Given the description of an element on the screen output the (x, y) to click on. 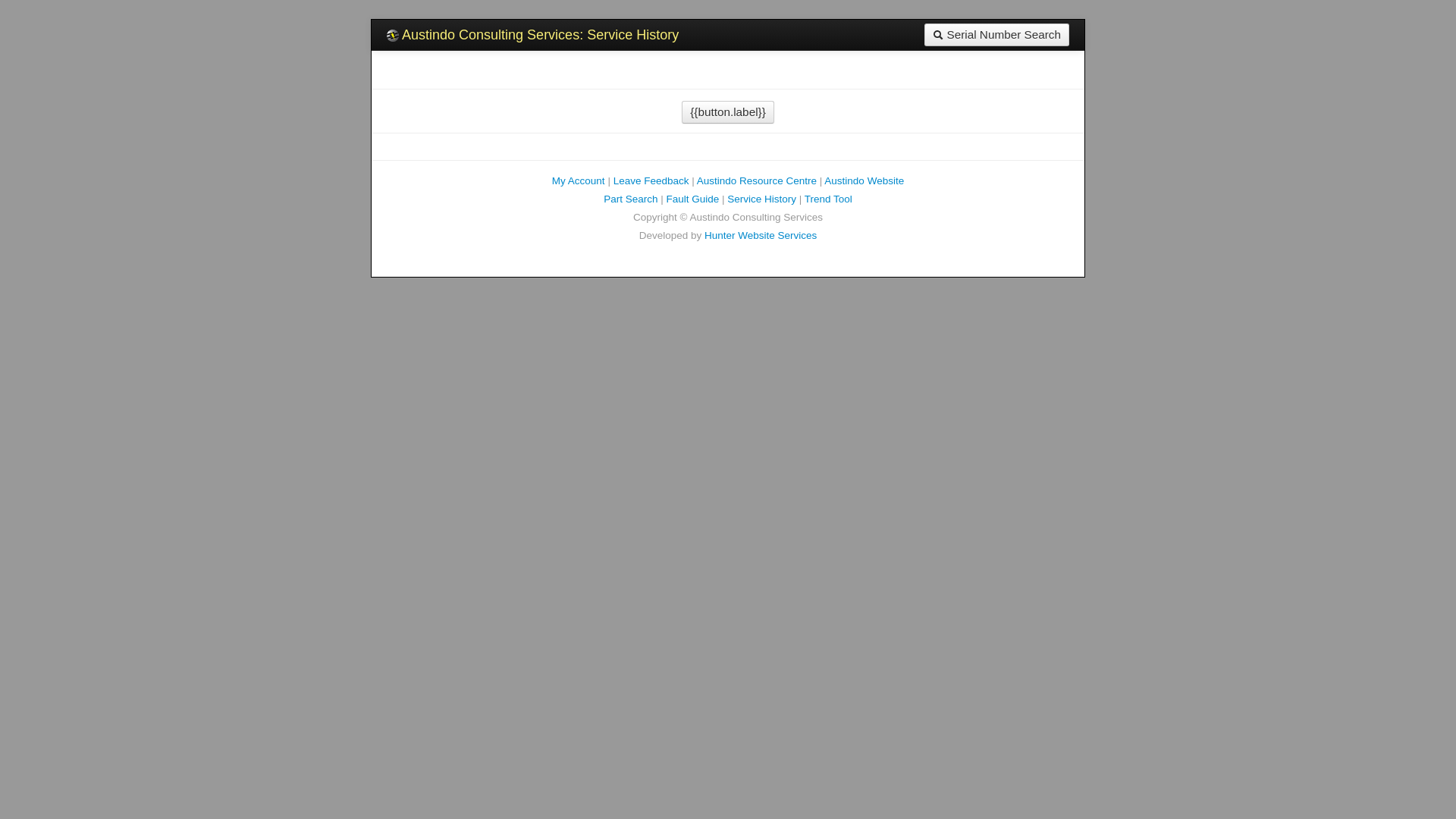
My Account Element type: text (578, 180)
Fault Guide Element type: text (691, 198)
Leave Feedback Element type: text (651, 180)
Austindo Consulting Services: Service History Element type: text (532, 34)
Austindo Website Element type: text (863, 180)
Service History Element type: text (761, 198)
Trend Tool Element type: text (828, 198)
Hunter Website Services Element type: text (760, 235)
Austindo Resource Centre Element type: text (756, 180)
Serial Number Search Element type: text (996, 34)
Part Search Element type: text (630, 198)
